Given the description of an element on the screen output the (x, y) to click on. 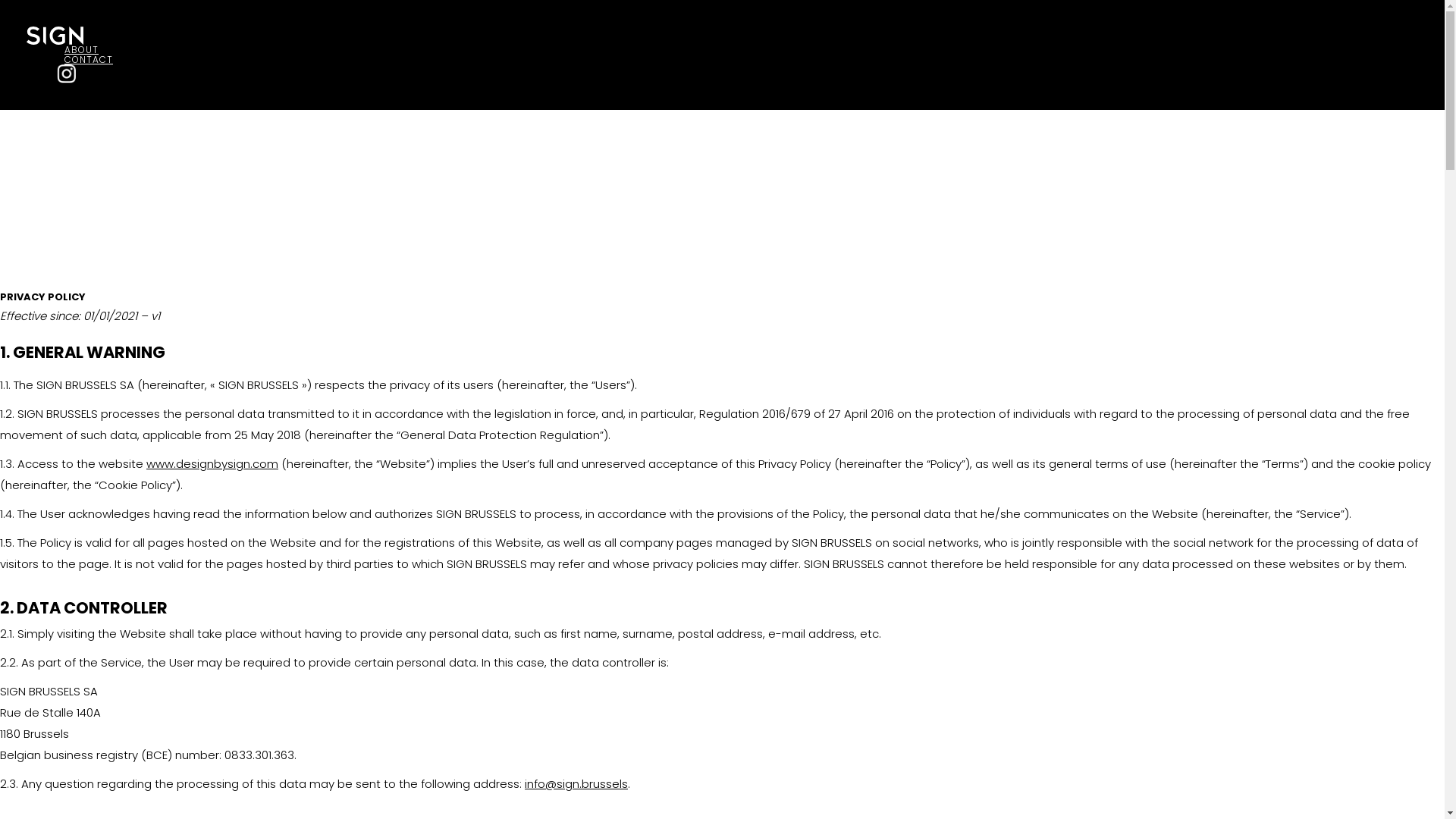
www.designbysign.com Element type: text (212, 463)
info@sign.brussels Element type: text (575, 783)
CONTACT Element type: text (88, 59)
ABOUT Element type: text (81, 49)
